Given the description of an element on the screen output the (x, y) to click on. 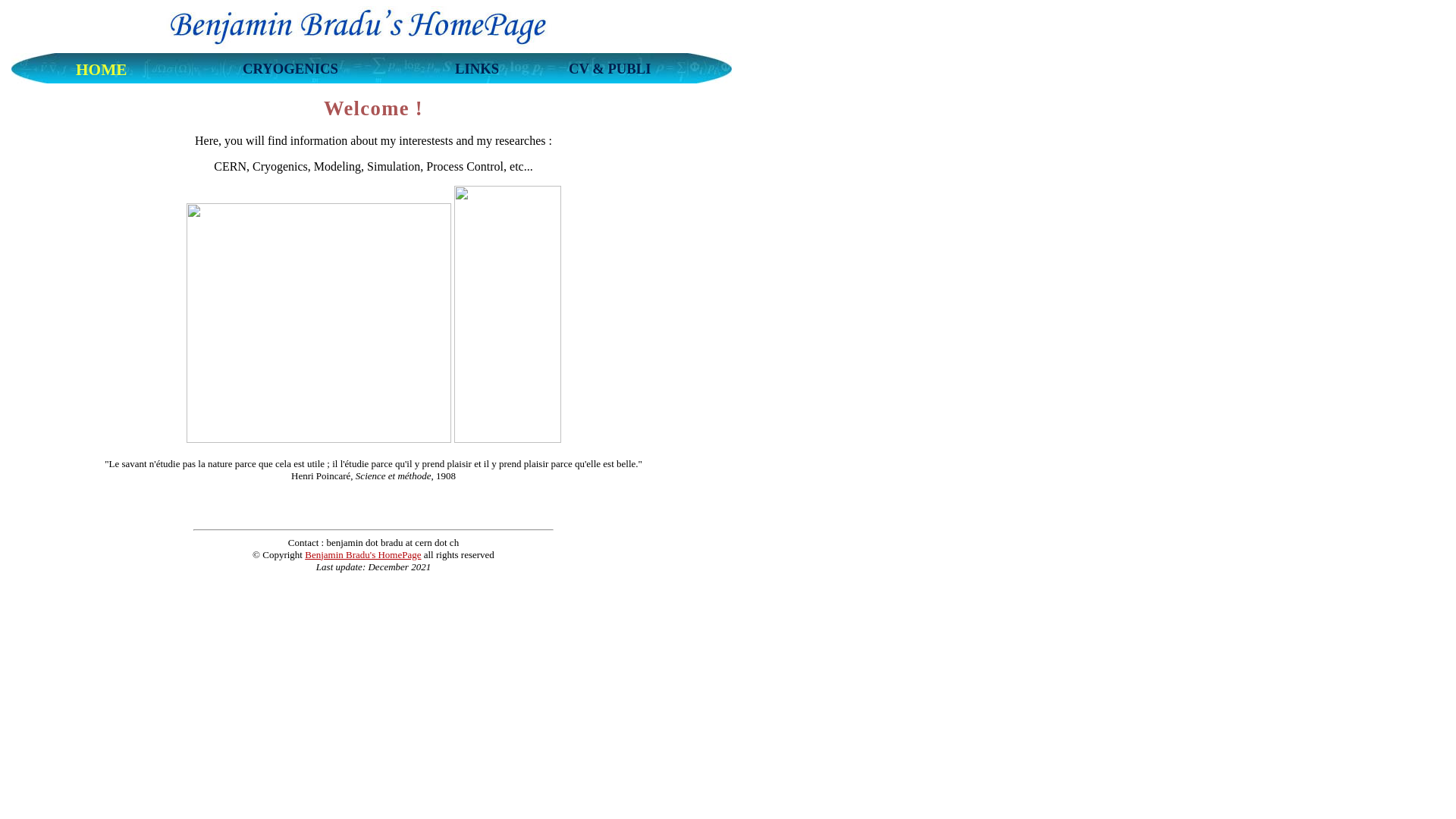
HOME Element type: text (101, 71)
LINKS Element type: text (476, 71)
CRYOGENICS Element type: text (290, 71)
Benjamin Bradu's HomePage Element type: text (362, 554)
CV & PUBLI Element type: text (609, 71)
